Given the description of an element on the screen output the (x, y) to click on. 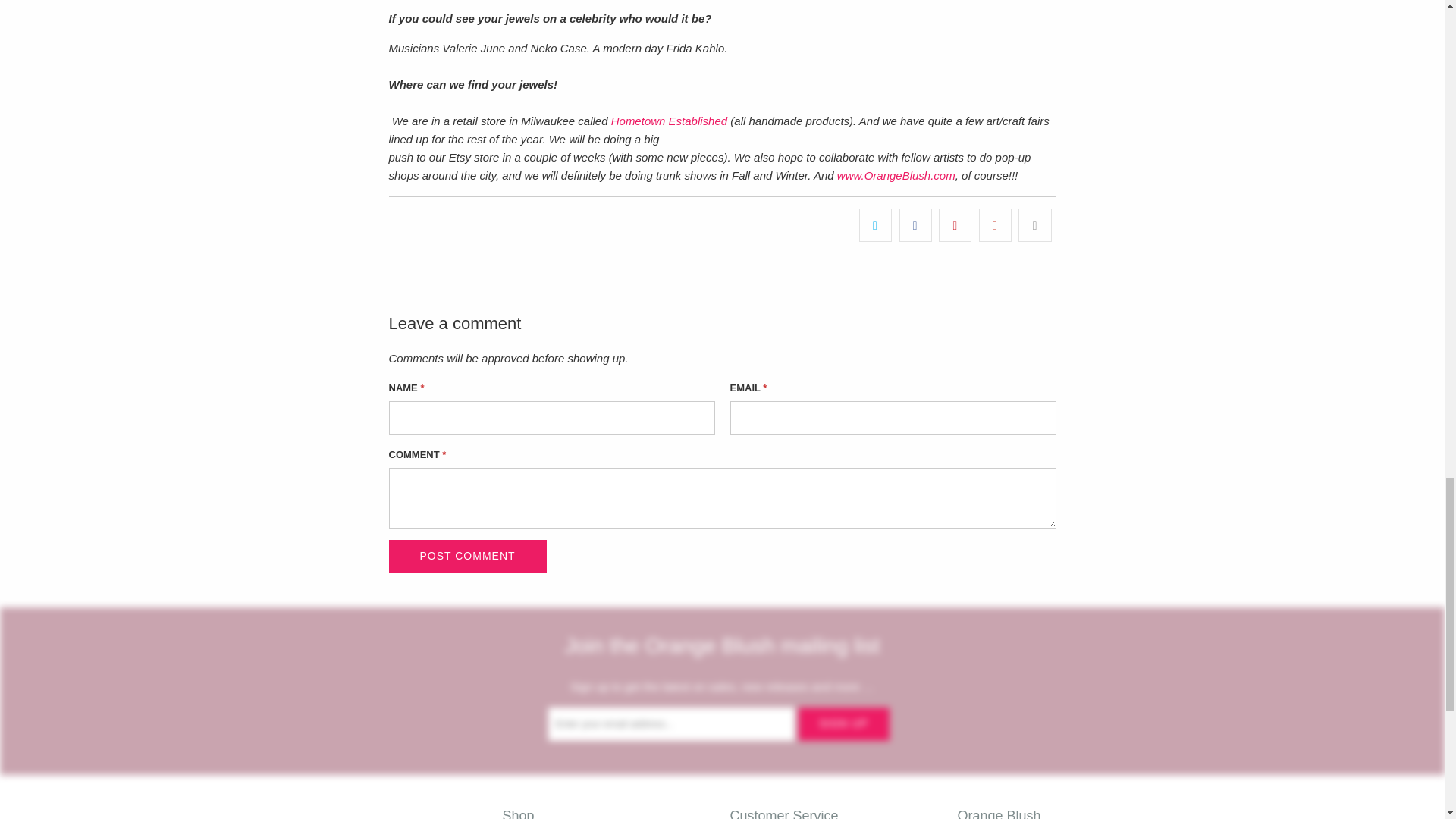
Share this on Pinterest (955, 224)
Sign Up (842, 723)
Post comment (467, 556)
Share this on Twitter (875, 224)
Share this on Facebook (915, 224)
